Given the description of an element on the screen output the (x, y) to click on. 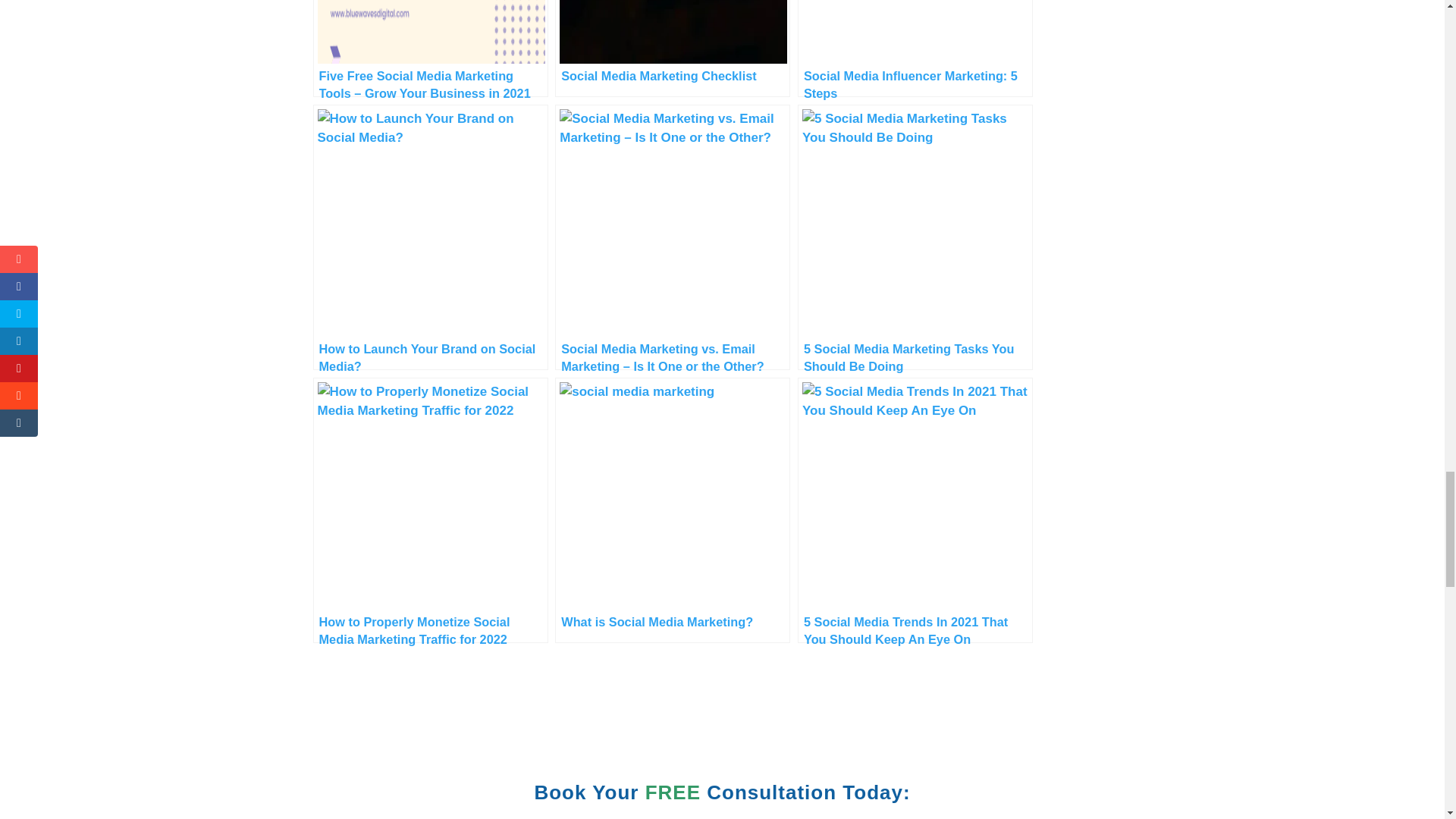
Social Media Marketing Checklist (672, 48)
Social Media Influencer Marketing: 5 Steps (914, 48)
Social Media Influencer Marketing: 5 Steps (914, 48)
Social Media Marketing Checklist (672, 48)
